Given the description of an element on the screen output the (x, y) to click on. 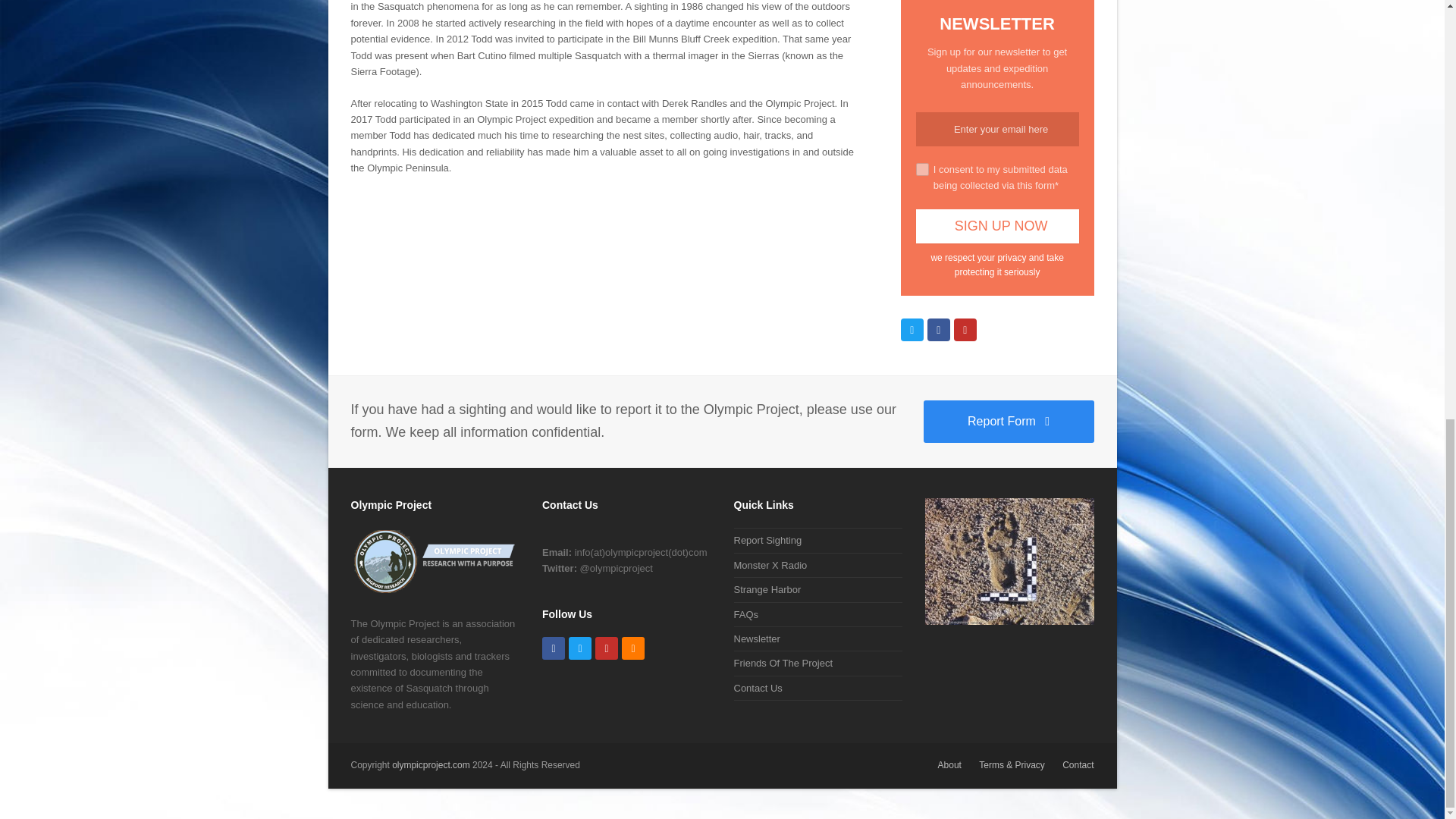
Facebook (938, 329)
Sign Up Now (996, 226)
Twitter (580, 648)
on (921, 169)
Twitter (912, 329)
Olympic Project About Page (434, 591)
Youtube (606, 648)
RSS (633, 648)
Youtube (964, 329)
Facebook (552, 648)
